Given the description of an element on the screen output the (x, y) to click on. 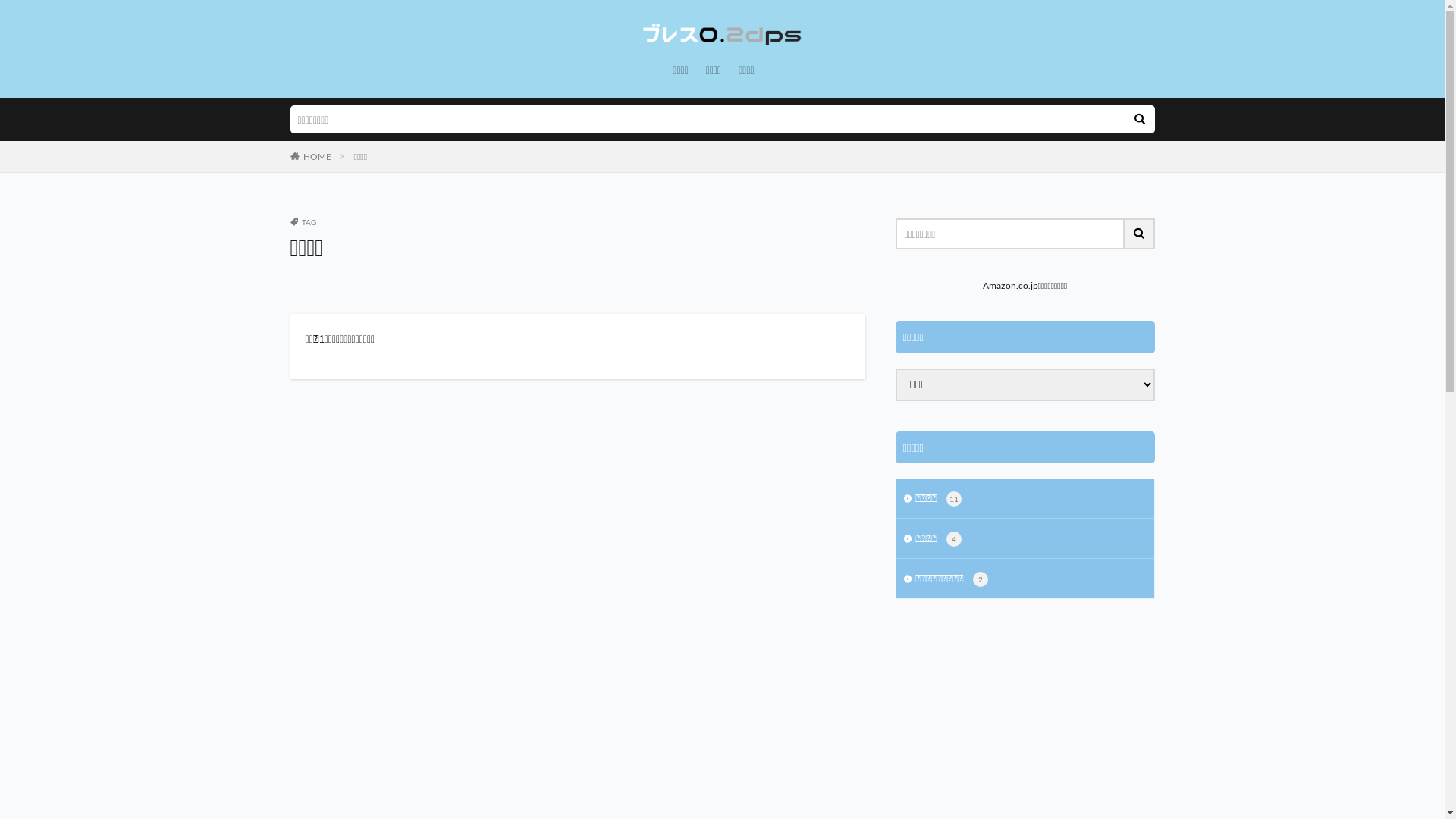
HOME Element type: text (317, 156)
search Element type: text (1138, 119)
search Element type: text (1138, 233)
